Given the description of an element on the screen output the (x, y) to click on. 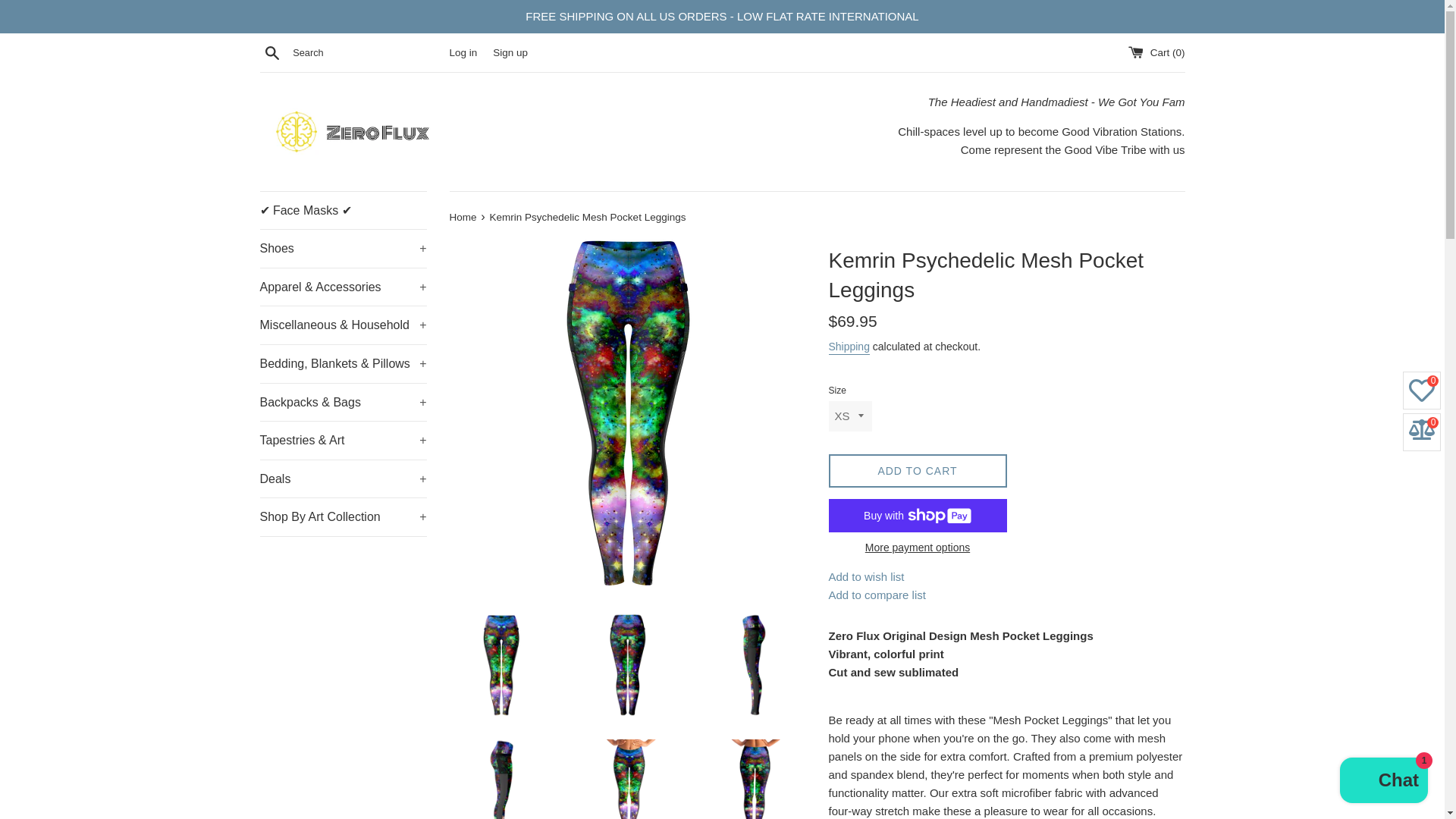
Log in (462, 52)
Sign up (510, 52)
Shopify online store chat (1383, 781)
Back to the frontpage (463, 216)
Search (271, 52)
